Given the description of an element on the screen output the (x, y) to click on. 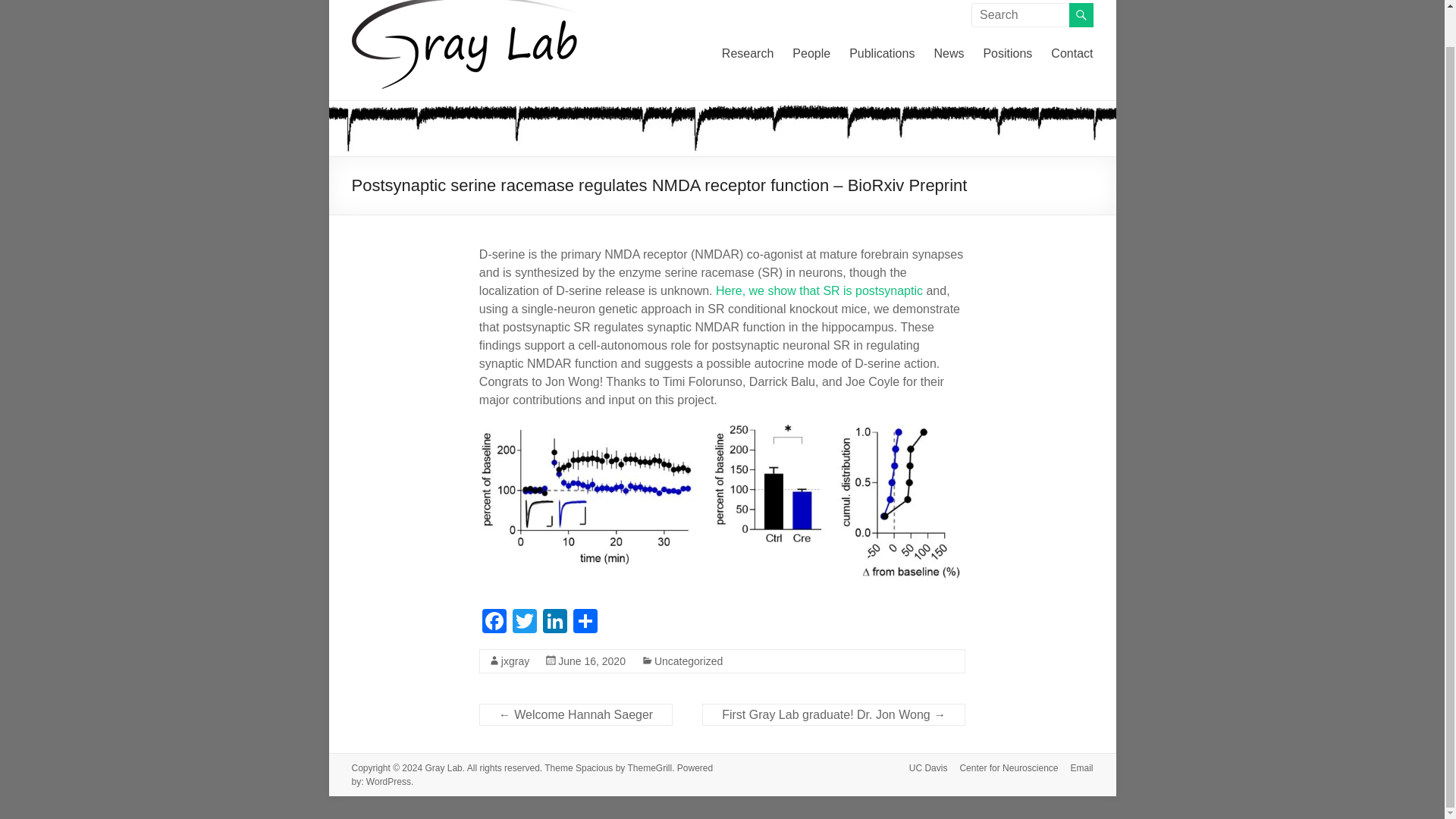
Positions (1007, 53)
Facebook (494, 623)
Center for Neuroscience (1002, 768)
WordPress (388, 780)
Facebook (494, 623)
Spacious (593, 767)
Twitter (524, 623)
Here, we show that SR is postsynaptic (819, 290)
UC Davis (921, 768)
2:32 pm (591, 660)
LinkedIn (555, 623)
June 16, 2020 (591, 660)
Publications (881, 53)
People (810, 53)
Gray Lab (443, 767)
